Given the description of an element on the screen output the (x, y) to click on. 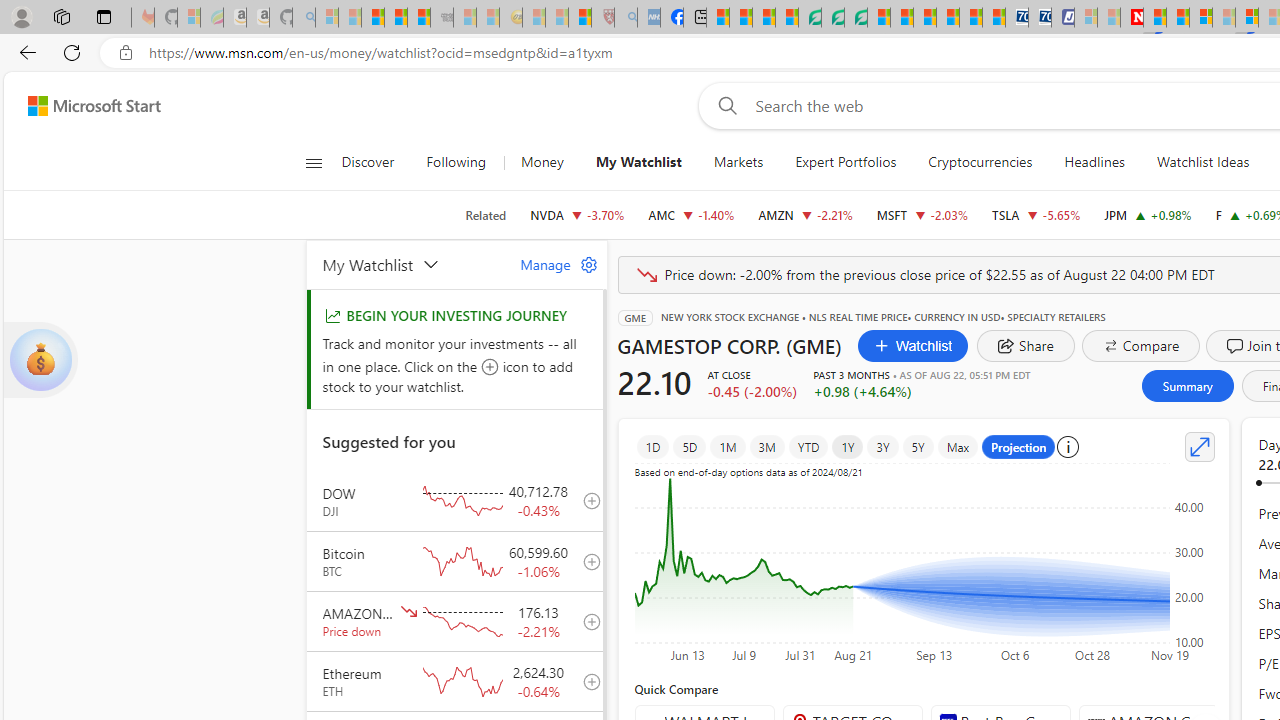
1D (652, 446)
Cheap Hotels - Save70.com (1039, 17)
LendingTree - Compare Lenders (809, 17)
MSFT MICROSOFT CORPORATION decrease 415.55 -8.59 -2.03% (922, 214)
Markets (738, 162)
AMZN AMAZON.COM, INC. decrease 176.13 -3.98 -2.21% (805, 214)
